Given the description of an element on the screen output the (x, y) to click on. 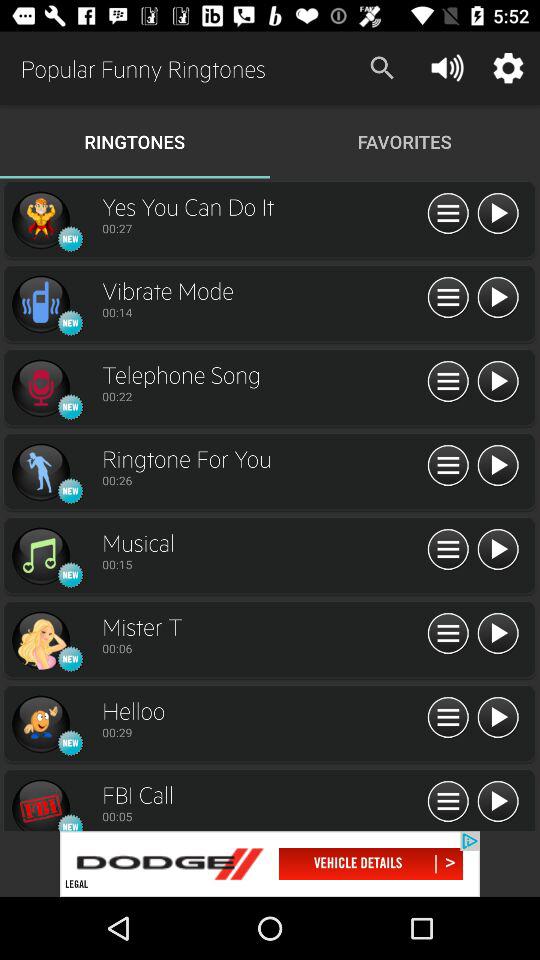
icon or logo (40, 220)
